Given the description of an element on the screen output the (x, y) to click on. 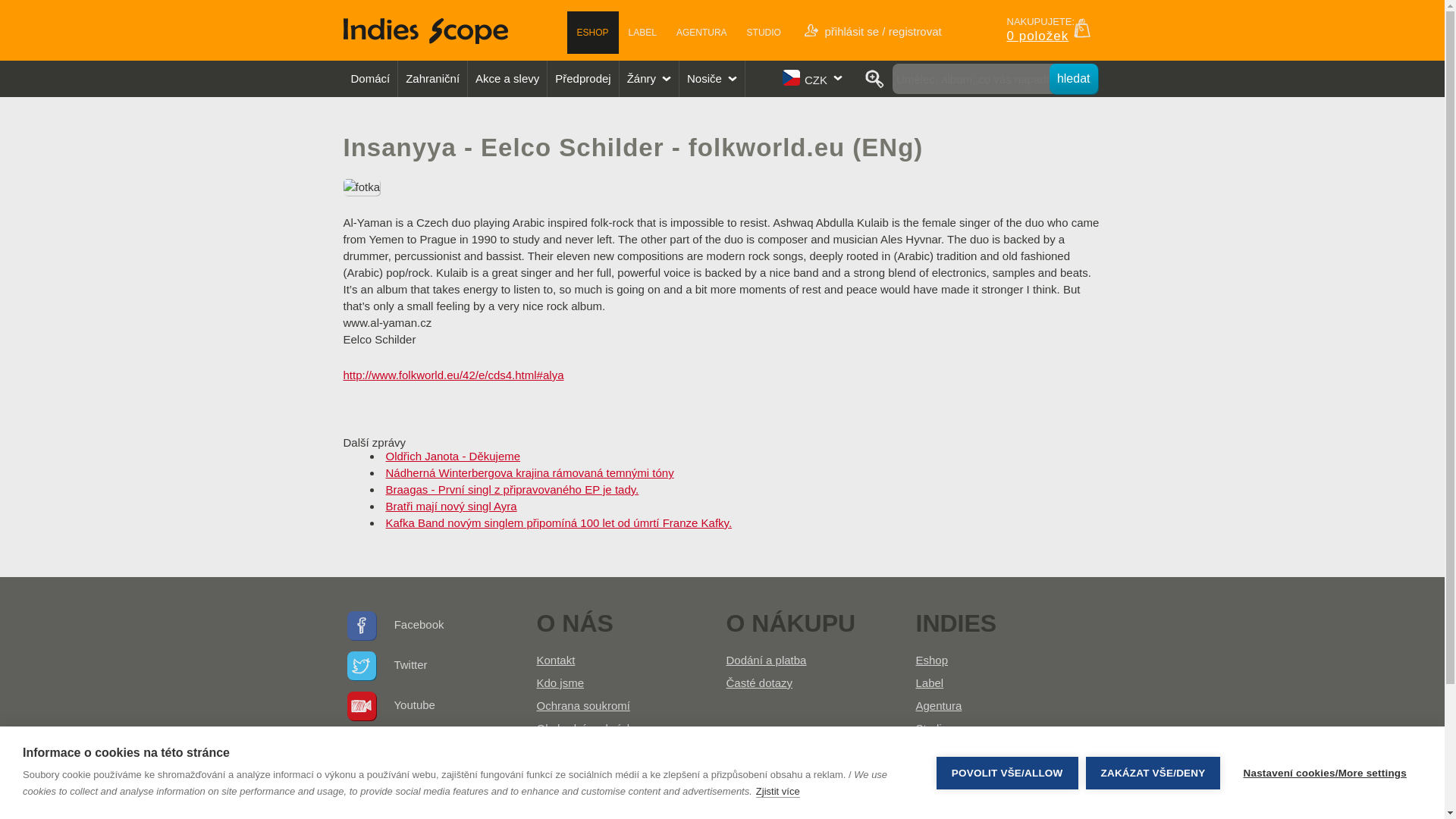
Akce a slevy (507, 78)
AGENTURA (701, 32)
STUDIO (763, 32)
LABEL (642, 32)
ESHOP (592, 32)
hledat (1073, 78)
CZK (813, 77)
